Given the description of an element on the screen output the (x, y) to click on. 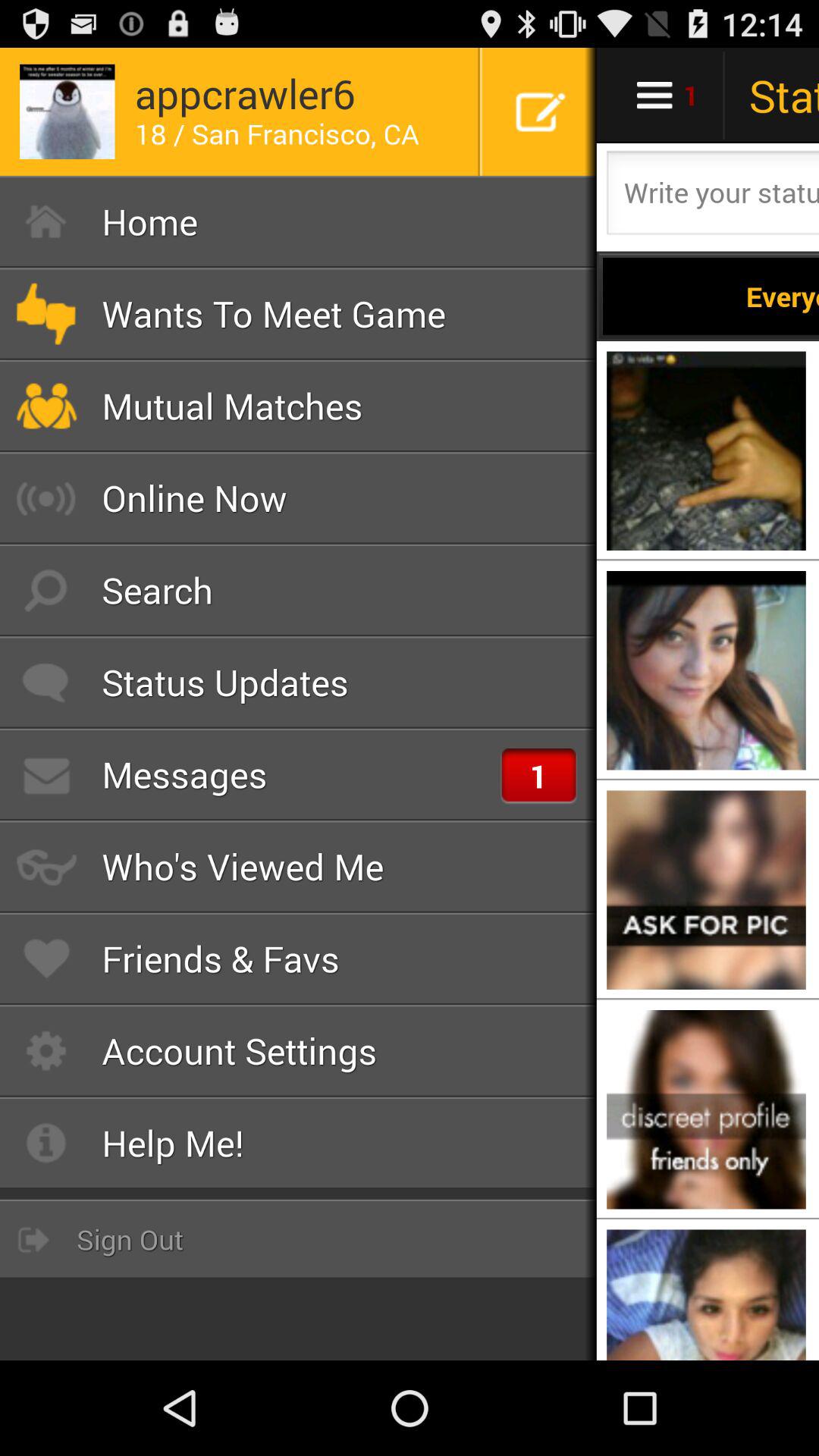
open the button to the right of the home item (710, 295)
